Given the description of an element on the screen output the (x, y) to click on. 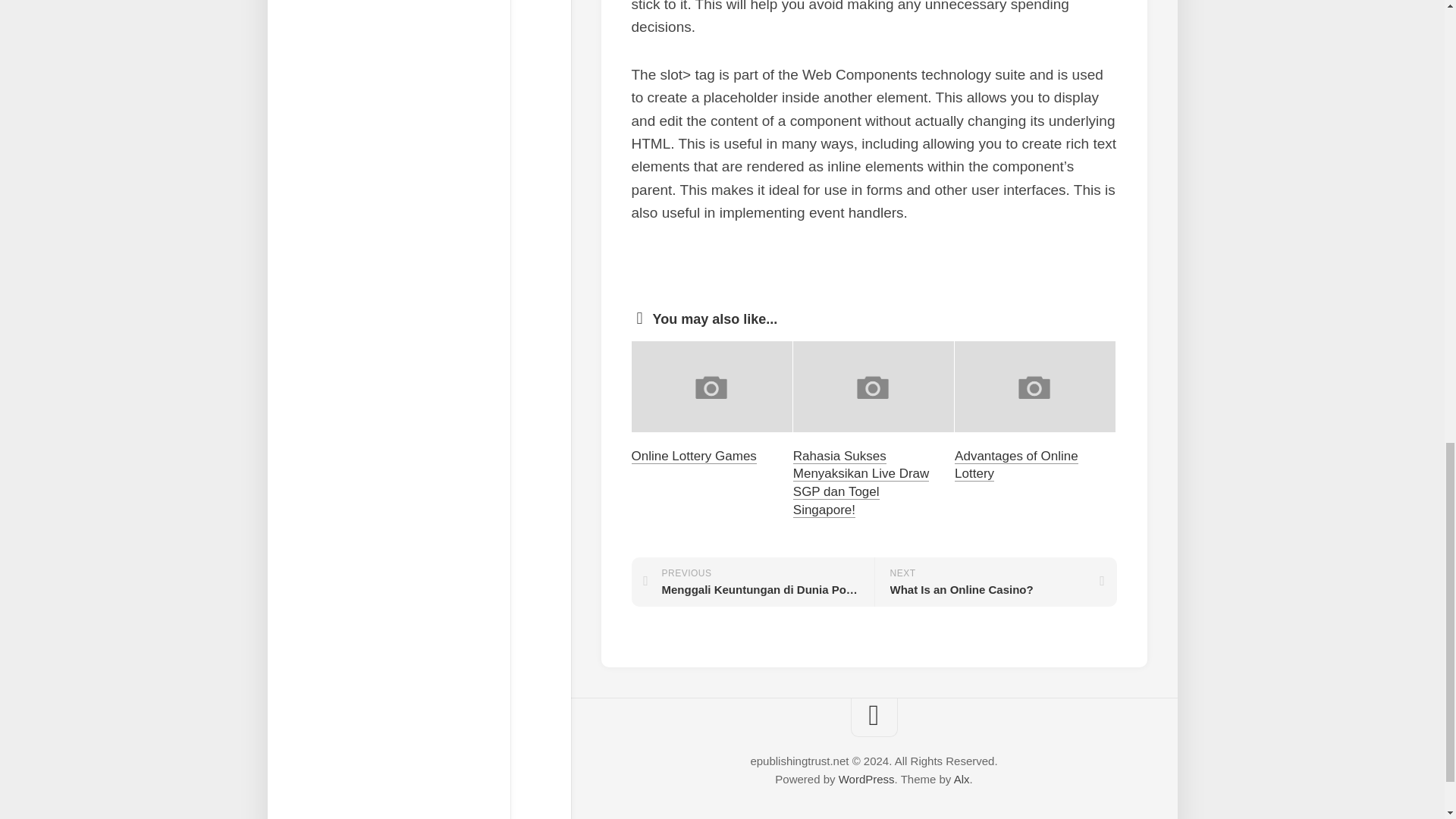
Online Lottery Games (692, 455)
Alx (994, 581)
Advantages of Online Lottery (961, 779)
WordPress (1016, 464)
